Given the description of an element on the screen output the (x, y) to click on. 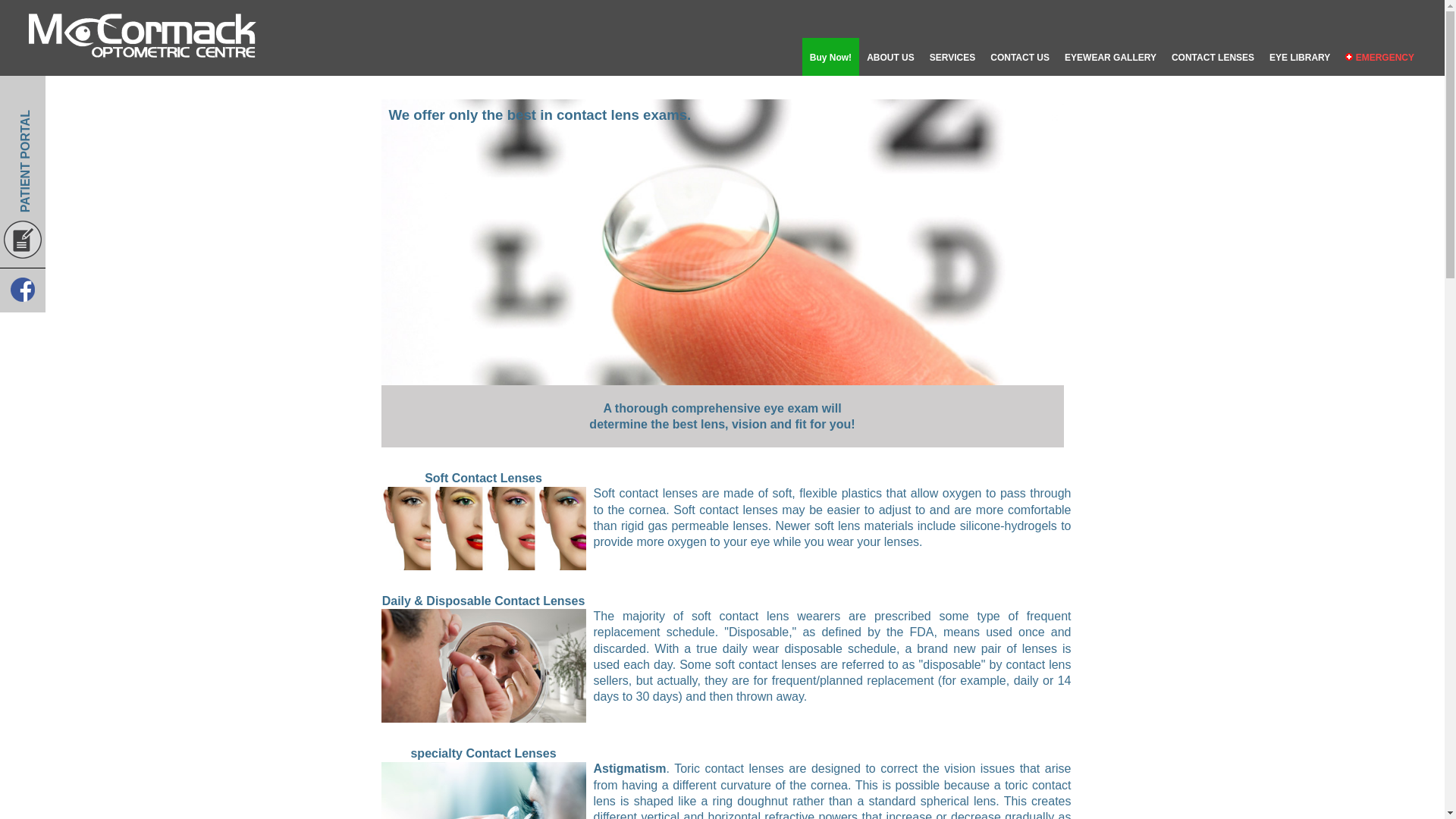
CONTACT US (1019, 56)
Buy Now! (830, 56)
EYEWEAR GALLERY (1110, 56)
ABOUT US (890, 56)
SERVICES (951, 56)
